Given the description of an element on the screen output the (x, y) to click on. 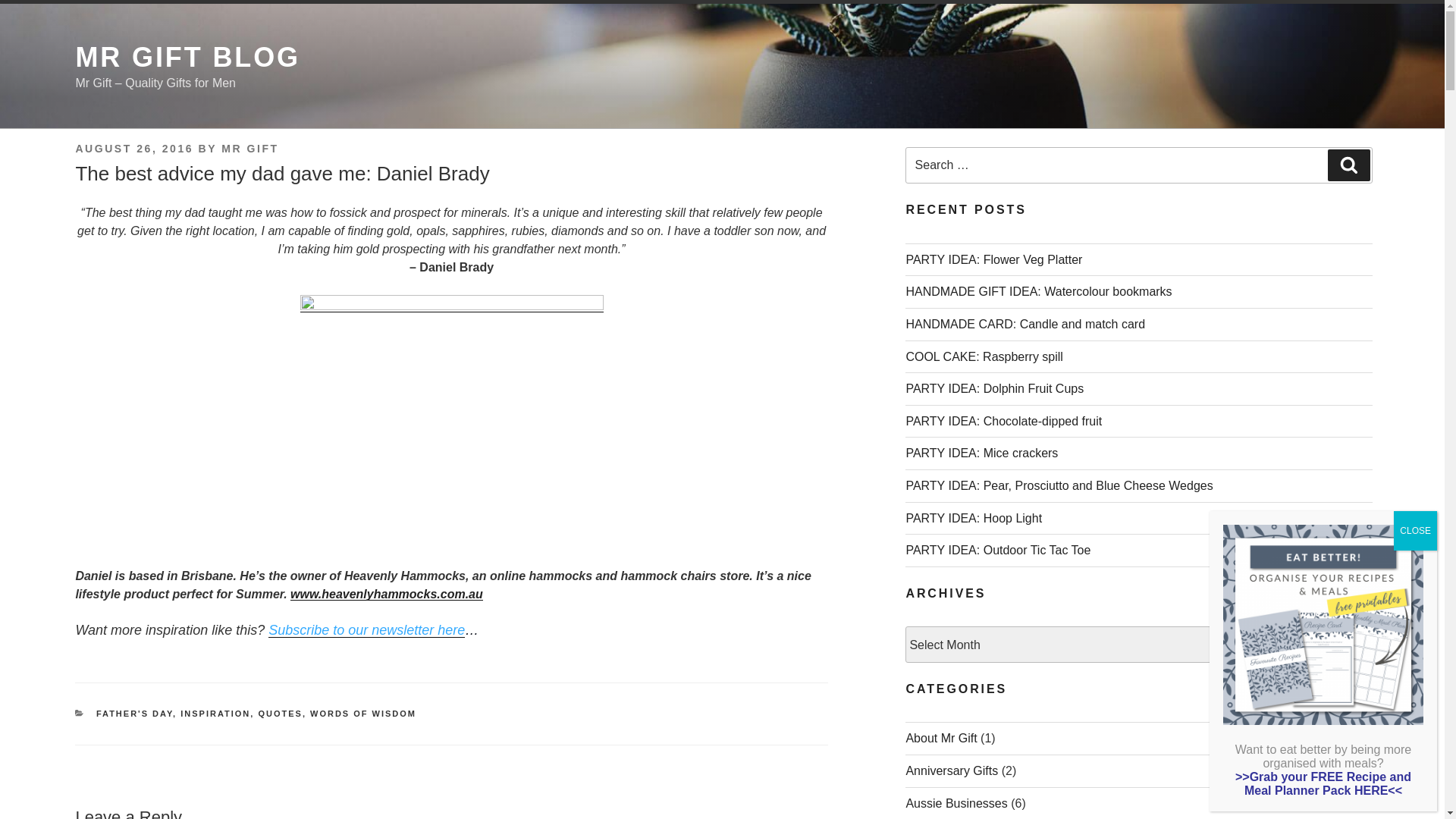
Subscribe to our newsletter here Element type: text (366, 629)
MR GIFT Element type: text (249, 148)
WORDS OF WISDOM Element type: text (363, 713)
Anniversary Gifts Element type: text (951, 770)
PARTY IDEA: Dolphin Fruit Cups Element type: text (994, 388)
PARTY IDEA: Mice crackers Element type: text (981, 452)
INSPIRATION Element type: text (215, 713)
Search Element type: text (1348, 165)
PARTY IDEA: Flower Veg Platter Element type: text (993, 259)
www.heavenlyhammocks.com.au Element type: text (386, 593)
PARTY IDEA: Chocolate-dipped fruit Element type: text (1003, 420)
About Mr Gift Element type: text (940, 737)
CLOSE Element type: text (1415, 530)
PARTY IDEA: Outdoor Tic Tac Toe Element type: text (997, 549)
HANDMADE GIFT IDEA: Watercolour bookmarks Element type: text (1038, 291)
QUOTES Element type: text (279, 713)
PARTY IDEA: Pear, Prosciutto and Blue Cheese Wedges Element type: text (1058, 485)
COOL CAKE: Raspberry spill Element type: text (983, 356)
AUGUST 26, 2016 Element type: text (134, 148)
>>Grab your FREE Recipe and Meal Planner Pack HERE<< Element type: text (1323, 783)
FATHER'S DAY Element type: text (134, 713)
MR GIFT BLOG Element type: text (187, 56)
Aussie Businesses Element type: text (956, 803)
PARTY IDEA: Hoop Light Element type: text (973, 517)
HANDMADE CARD: Candle and match card Element type: text (1025, 323)
